Given the description of an element on the screen output the (x, y) to click on. 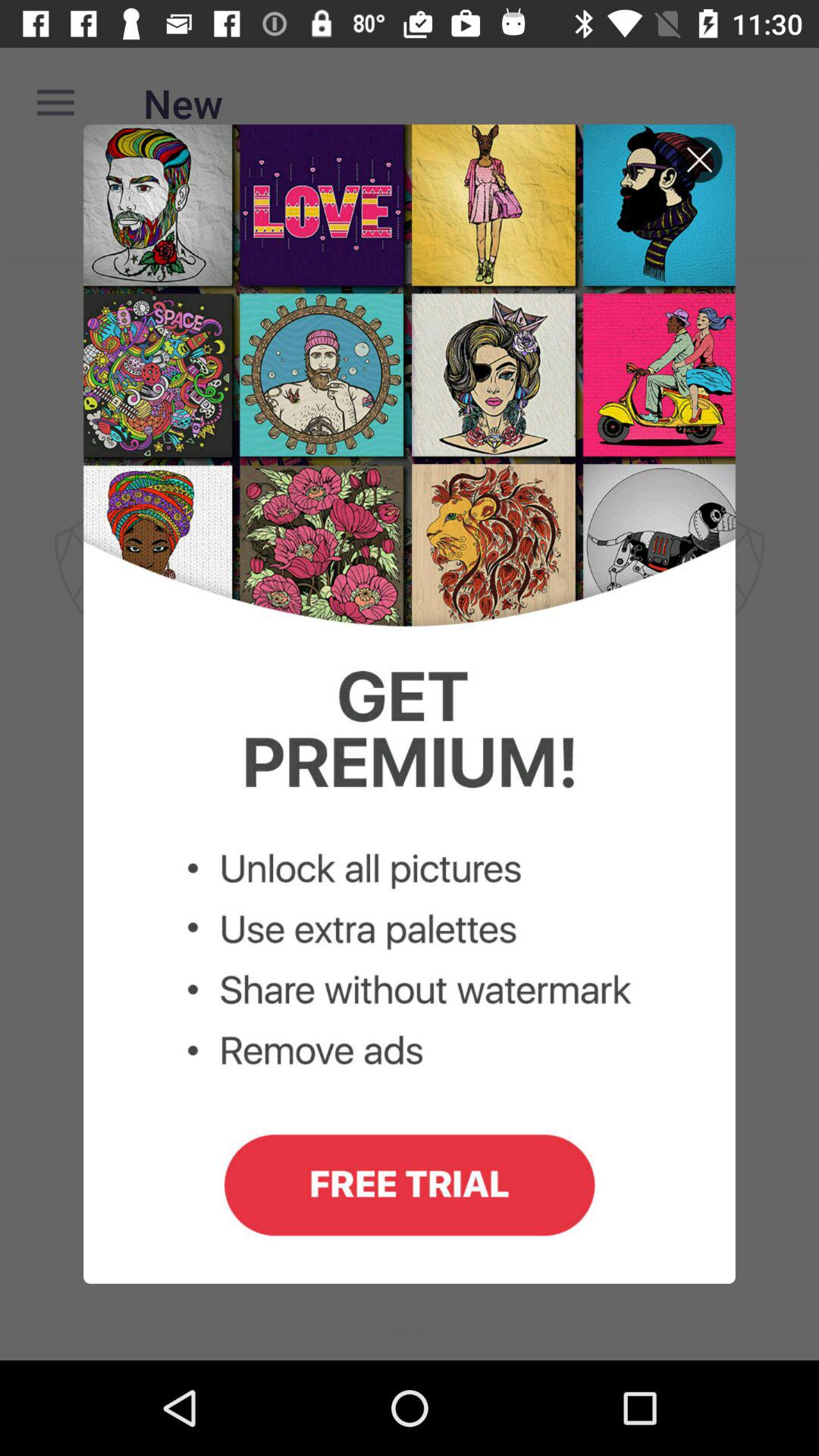
exit (699, 159)
